Given the description of an element on the screen output the (x, y) to click on. 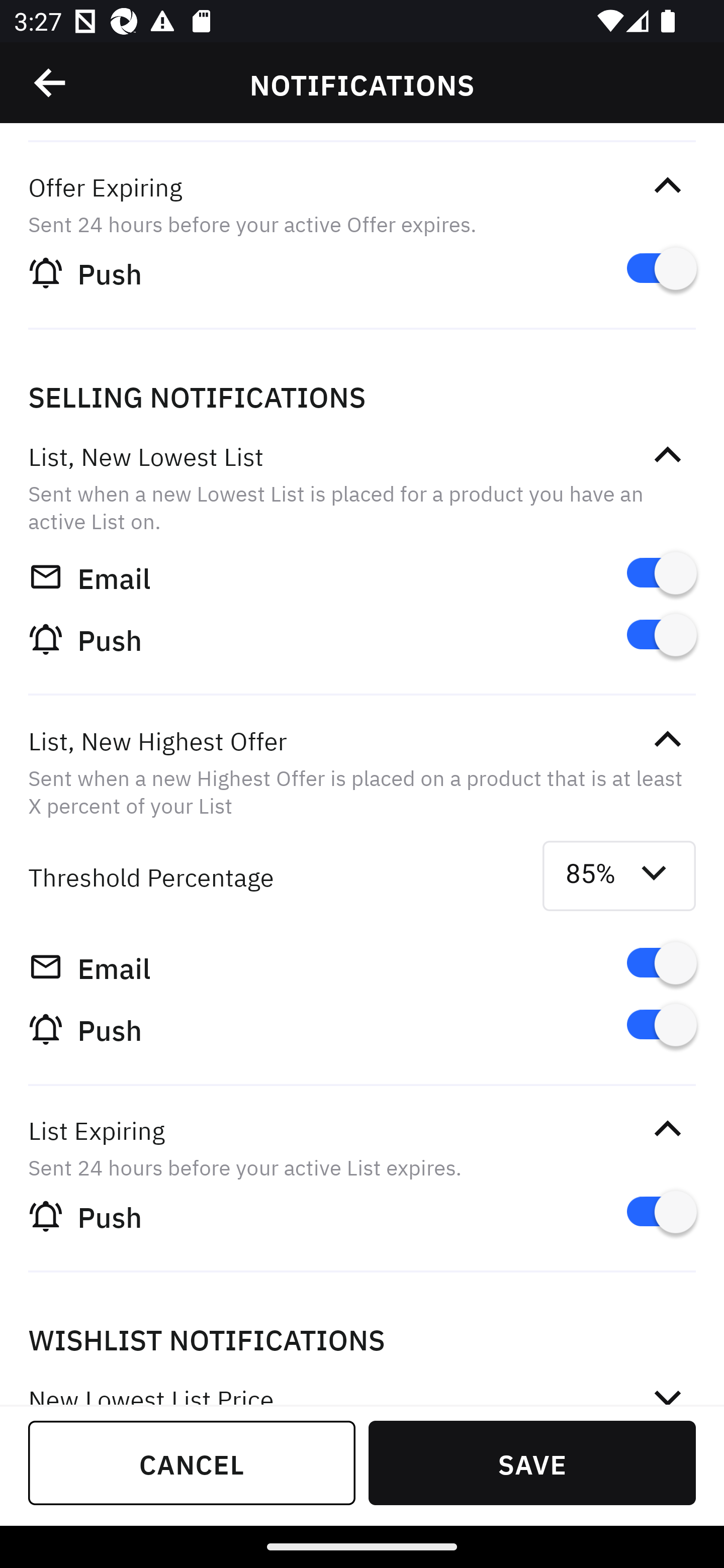
 (50, 83)
 (667, 185)
 (667, 455)
 (667, 739)
85%  (619, 876)
 (667, 1129)
 (667, 1389)
CANCEL (191, 1462)
SAVE (531, 1462)
